Given the description of an element on the screen output the (x, y) to click on. 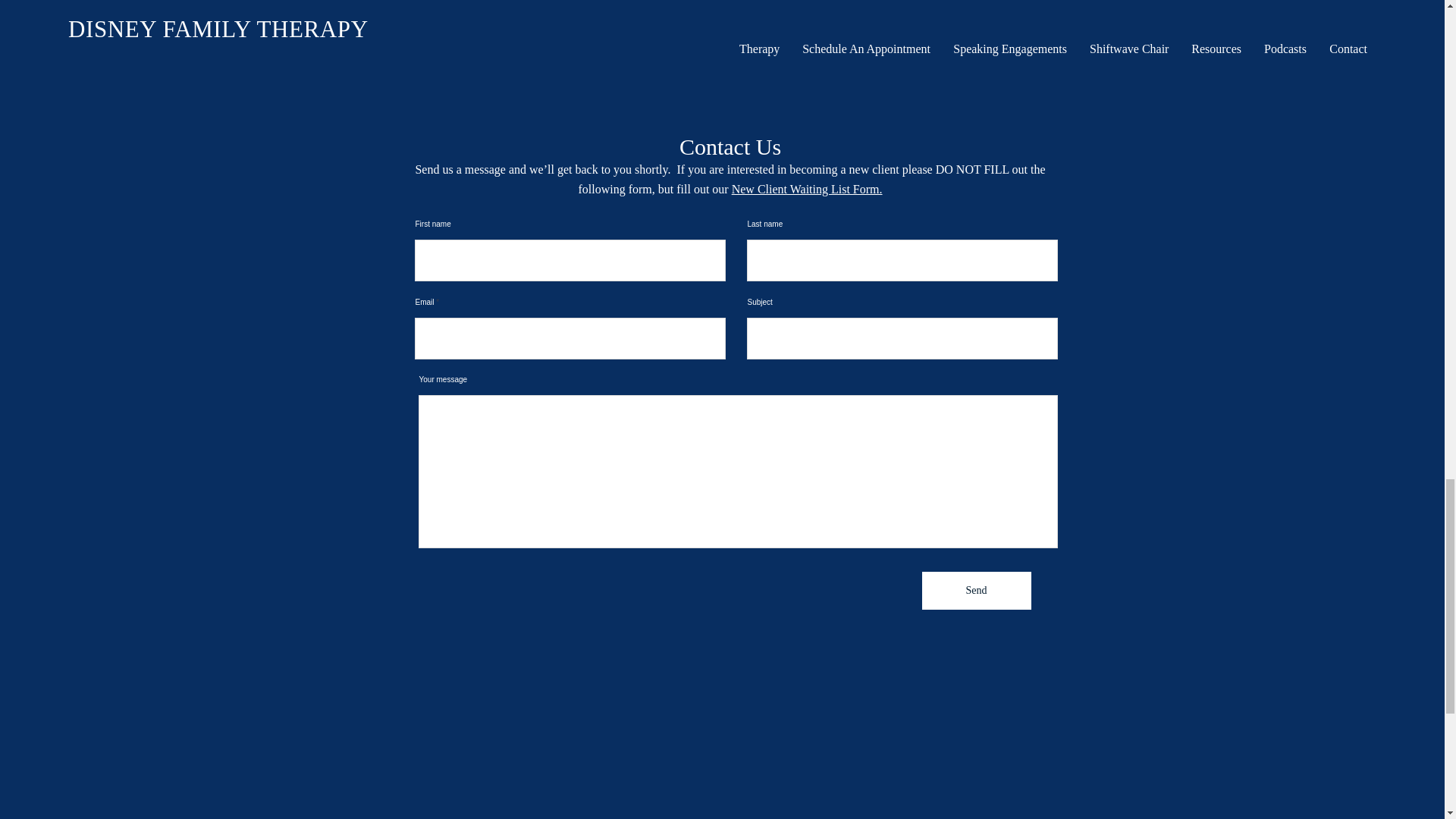
New Client Waiting List Form. (807, 188)
Send (975, 590)
